Given the description of an element on the screen output the (x, y) to click on. 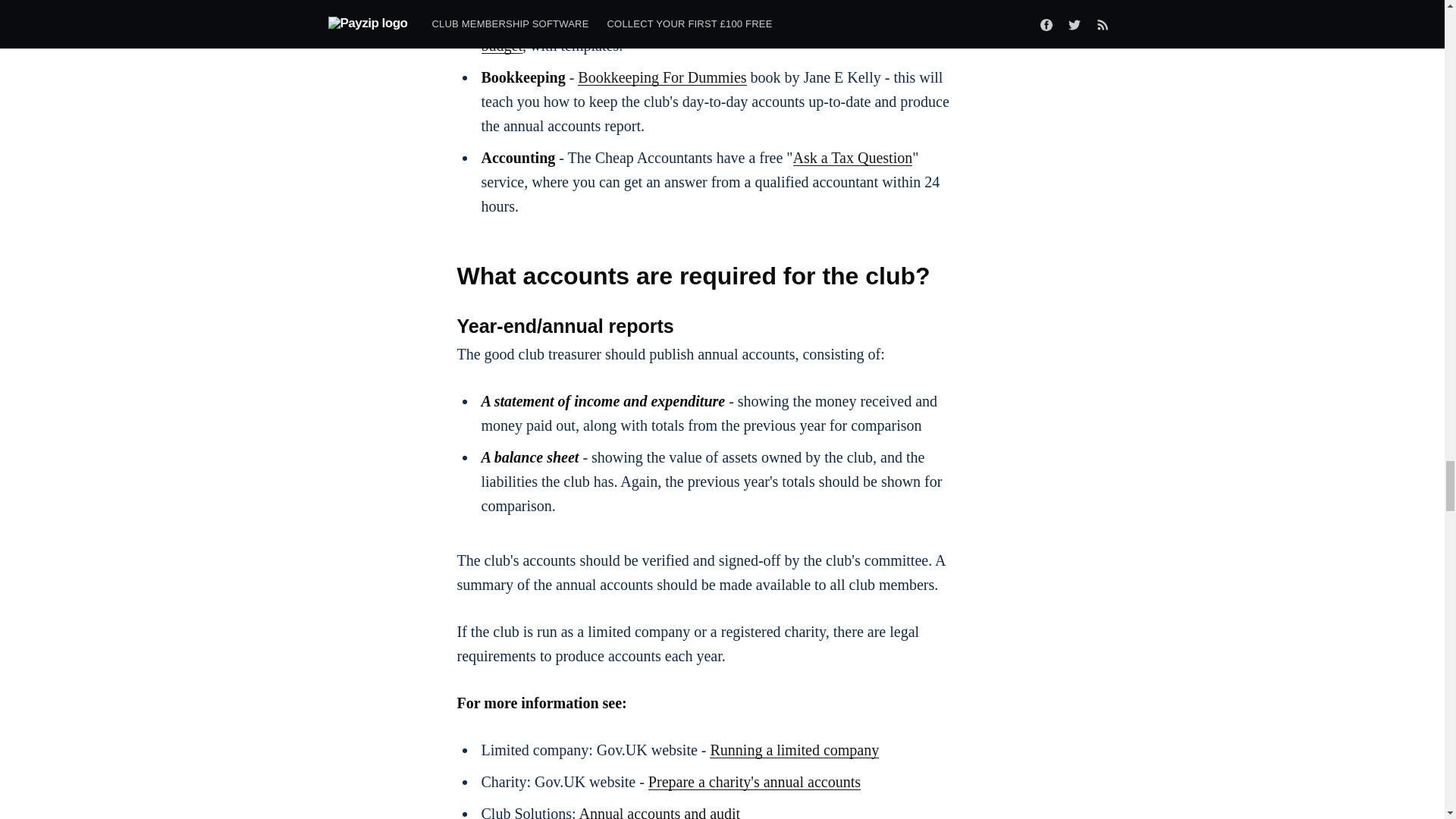
Annual accounts and audit (658, 812)
Bookkeeping For Dummies (661, 76)
Prepare a charity's annual accounts (753, 781)
creating a budget (716, 33)
Running a limited company (794, 750)
Ask a Tax Question (852, 157)
